Given the description of an element on the screen output the (x, y) to click on. 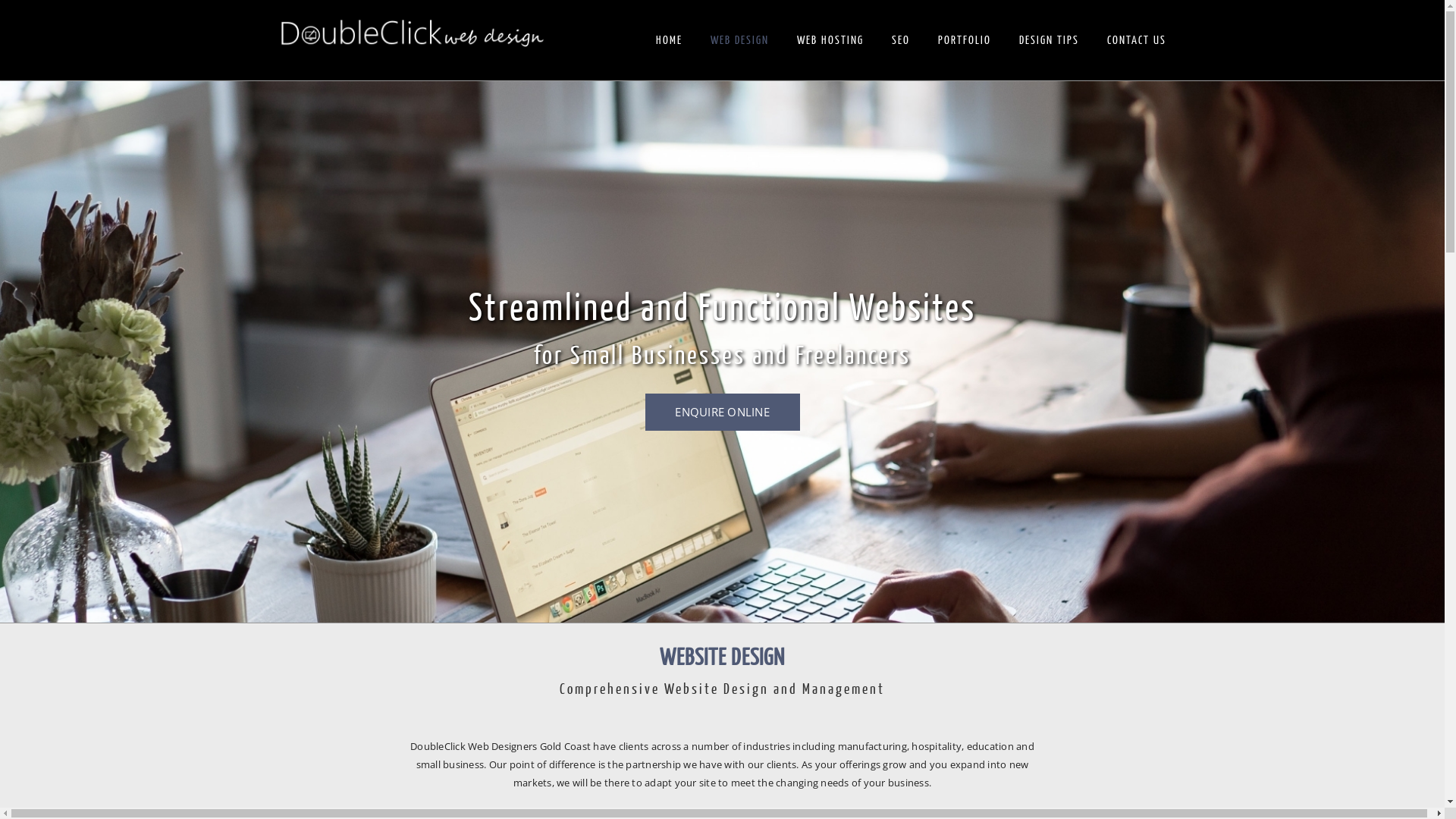
PORTFOLIO Element type: text (963, 40)
ENQUIRE ONLINE Element type: text (721, 411)
SEO Element type: text (900, 40)
HOME Element type: text (668, 40)
DESIGN TIPS Element type: text (1049, 40)
WEB DESIGN Element type: text (738, 40)
WEB HOSTING Element type: text (829, 40)
CONTACT US Element type: text (1136, 40)
